Given the description of an element on the screen output the (x, y) to click on. 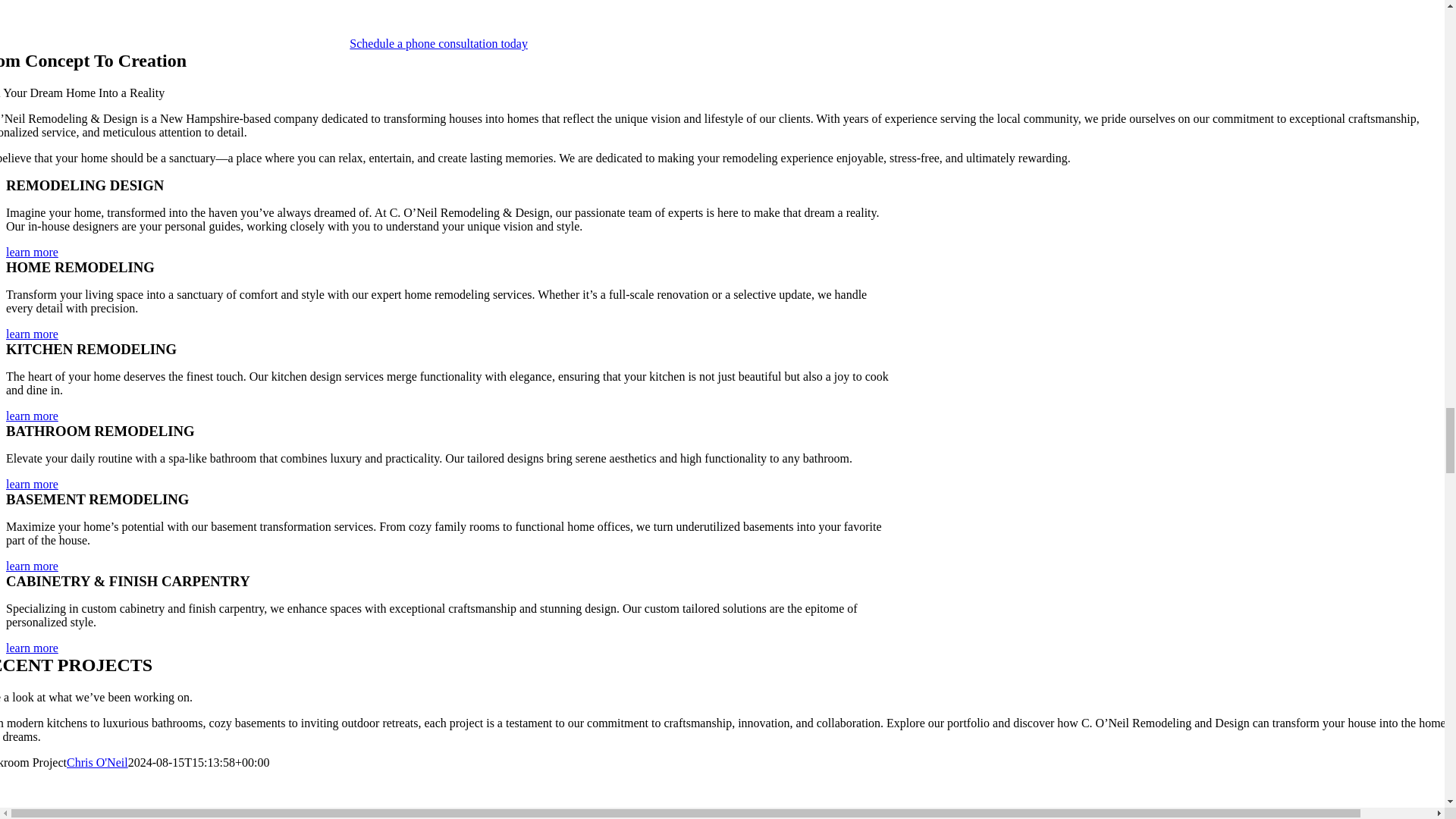
learn more (31, 565)
learn more (31, 647)
learn more (31, 333)
learn more (31, 251)
Chris O'Neil (97, 762)
Posts by Chris O'Neil (97, 762)
learn more (31, 483)
Schedule a phone consultation today (438, 42)
